Given the description of an element on the screen output the (x, y) to click on. 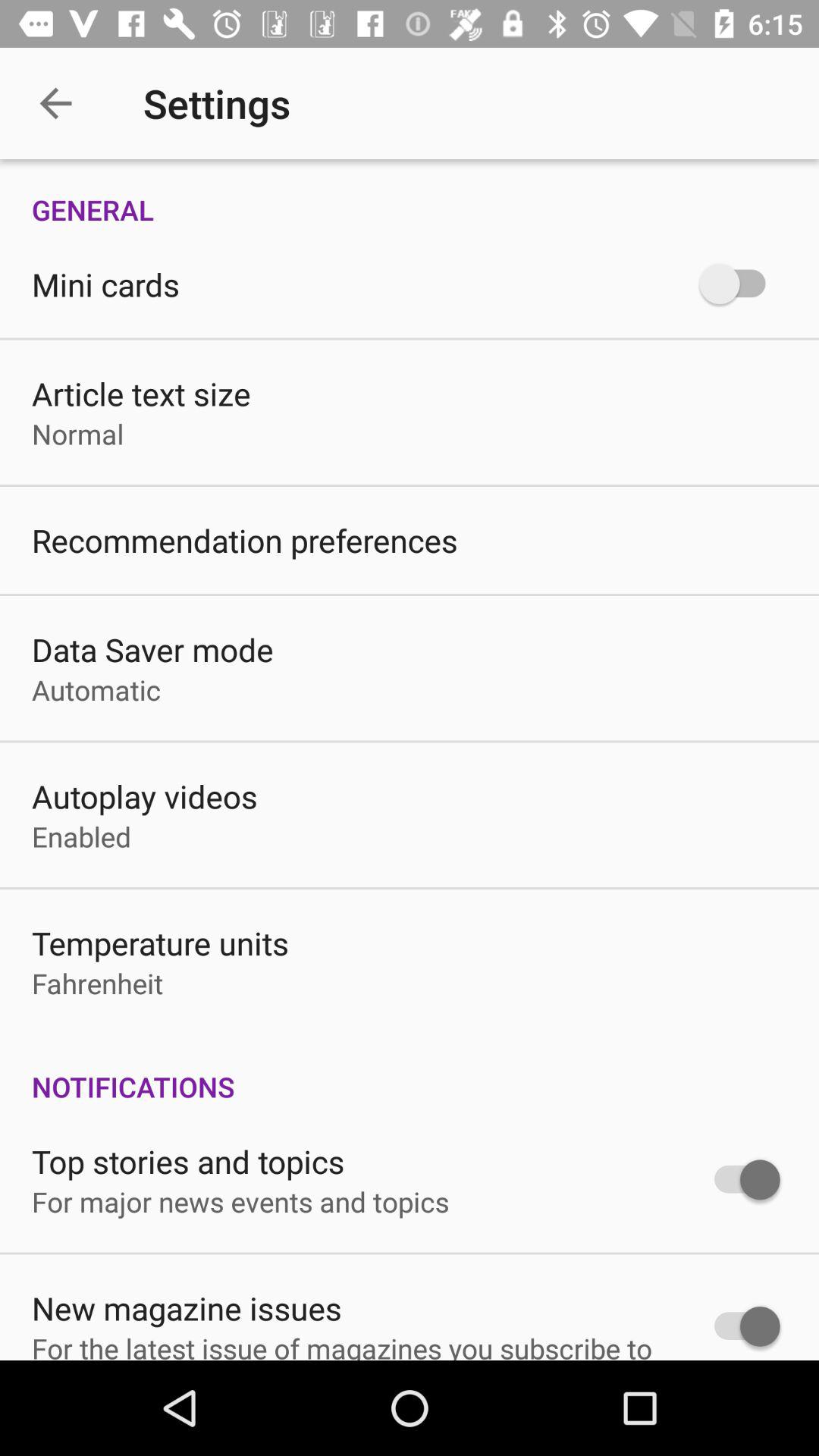
turn off item below the data saver mode item (95, 689)
